Given the description of an element on the screen output the (x, y) to click on. 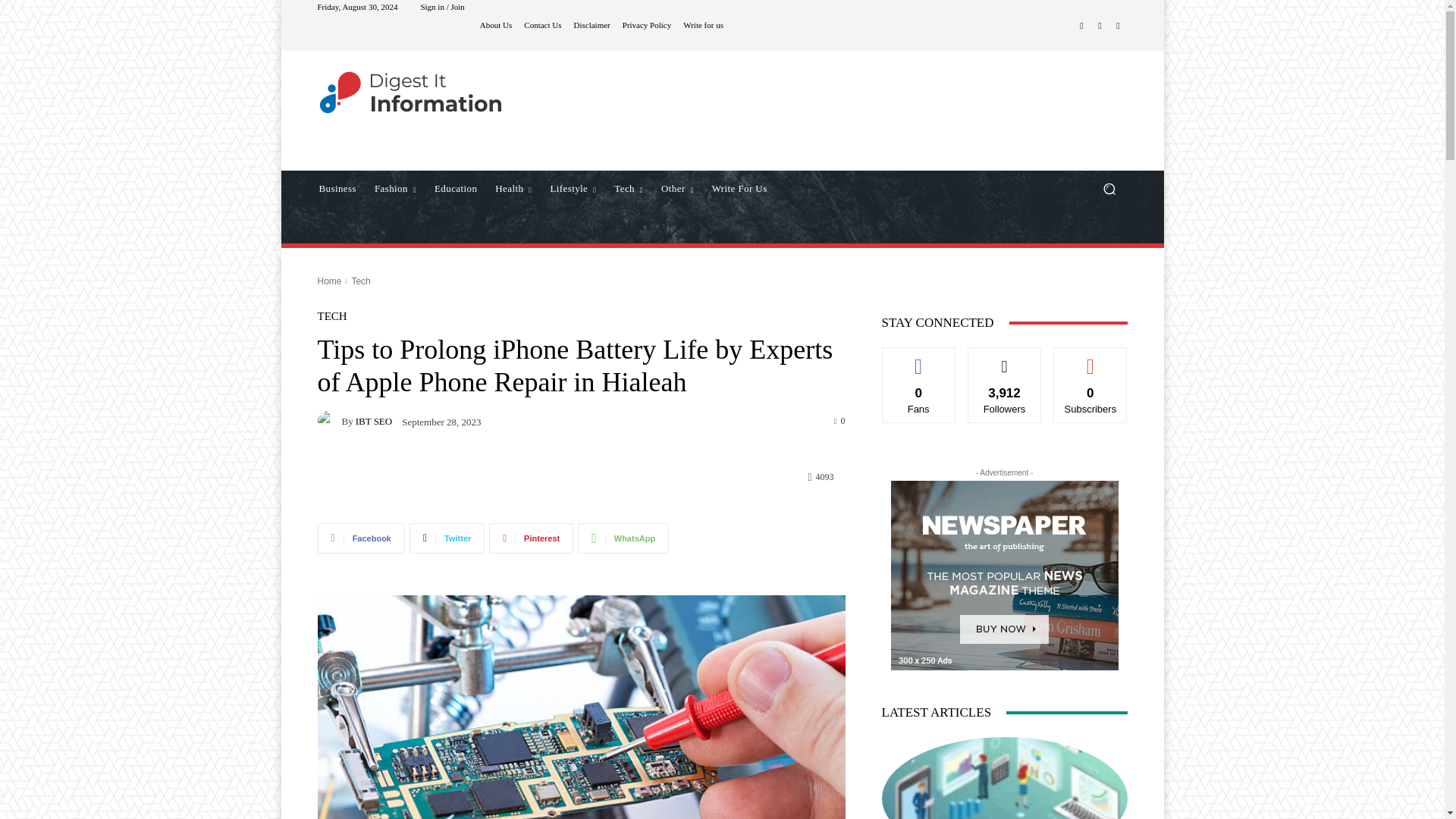
logo (409, 92)
Contact Us (542, 25)
logo (425, 92)
Business (336, 188)
View all posts in Tech (359, 281)
Health (513, 188)
Mail (1117, 25)
Write for us (702, 25)
Facebook (1080, 25)
Education (455, 188)
